Given the description of an element on the screen output the (x, y) to click on. 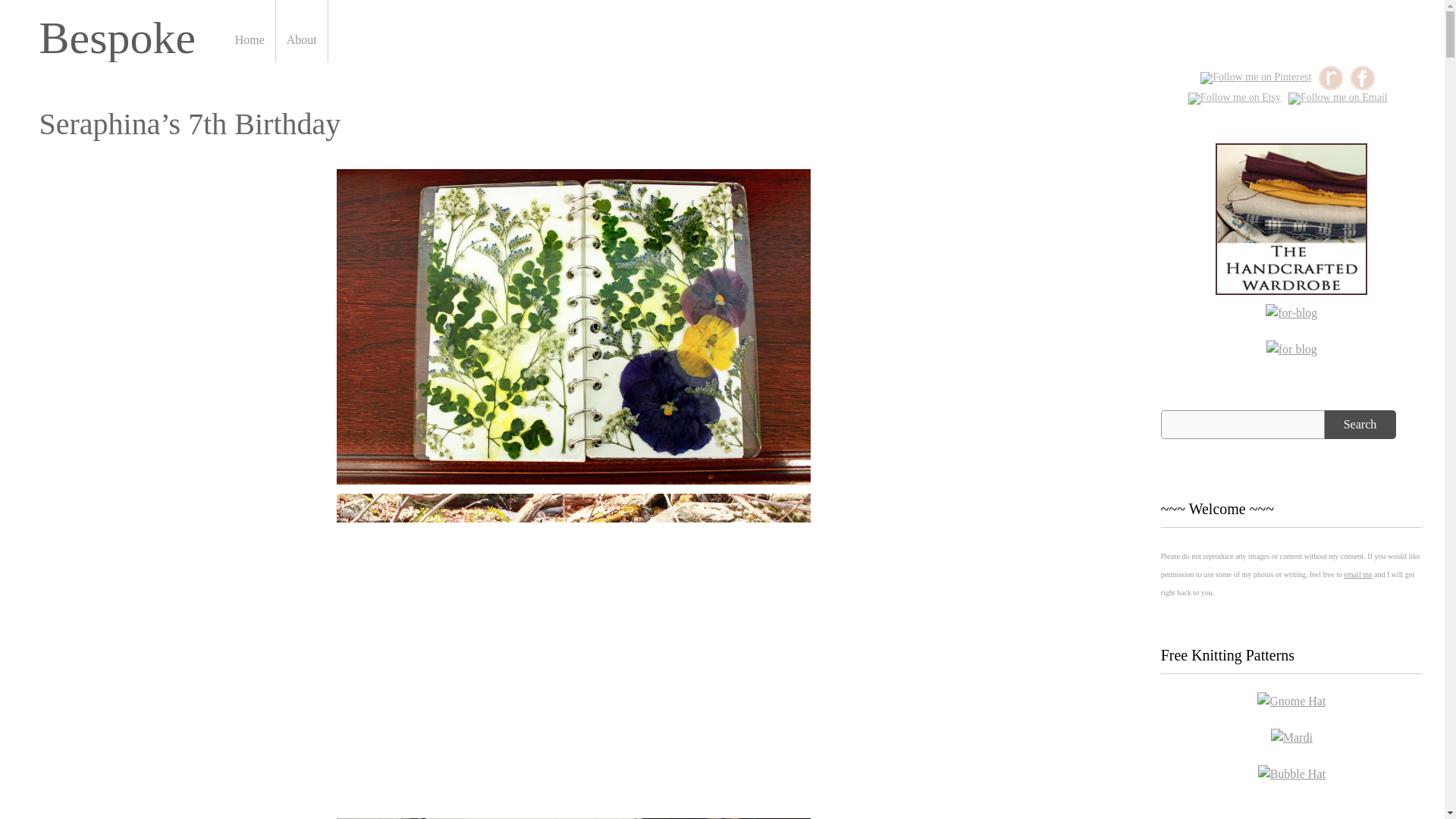
Bespoke (117, 38)
Skip to content (308, 5)
Bespoke (117, 38)
Skip to content (308, 5)
Search (1360, 424)
